Given the description of an element on the screen output the (x, y) to click on. 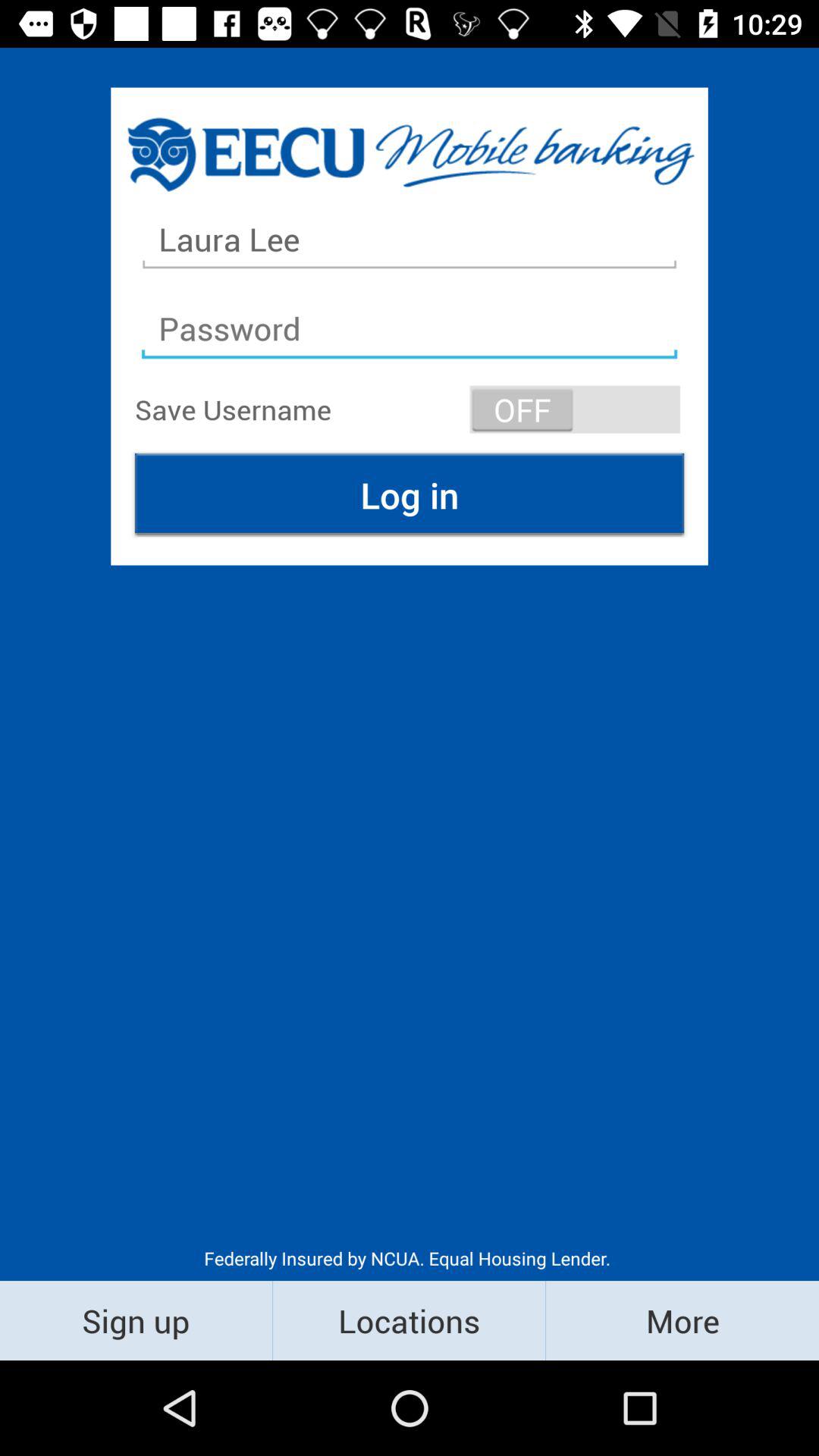
scroll until the sign up item (136, 1320)
